Given the description of an element on the screen output the (x, y) to click on. 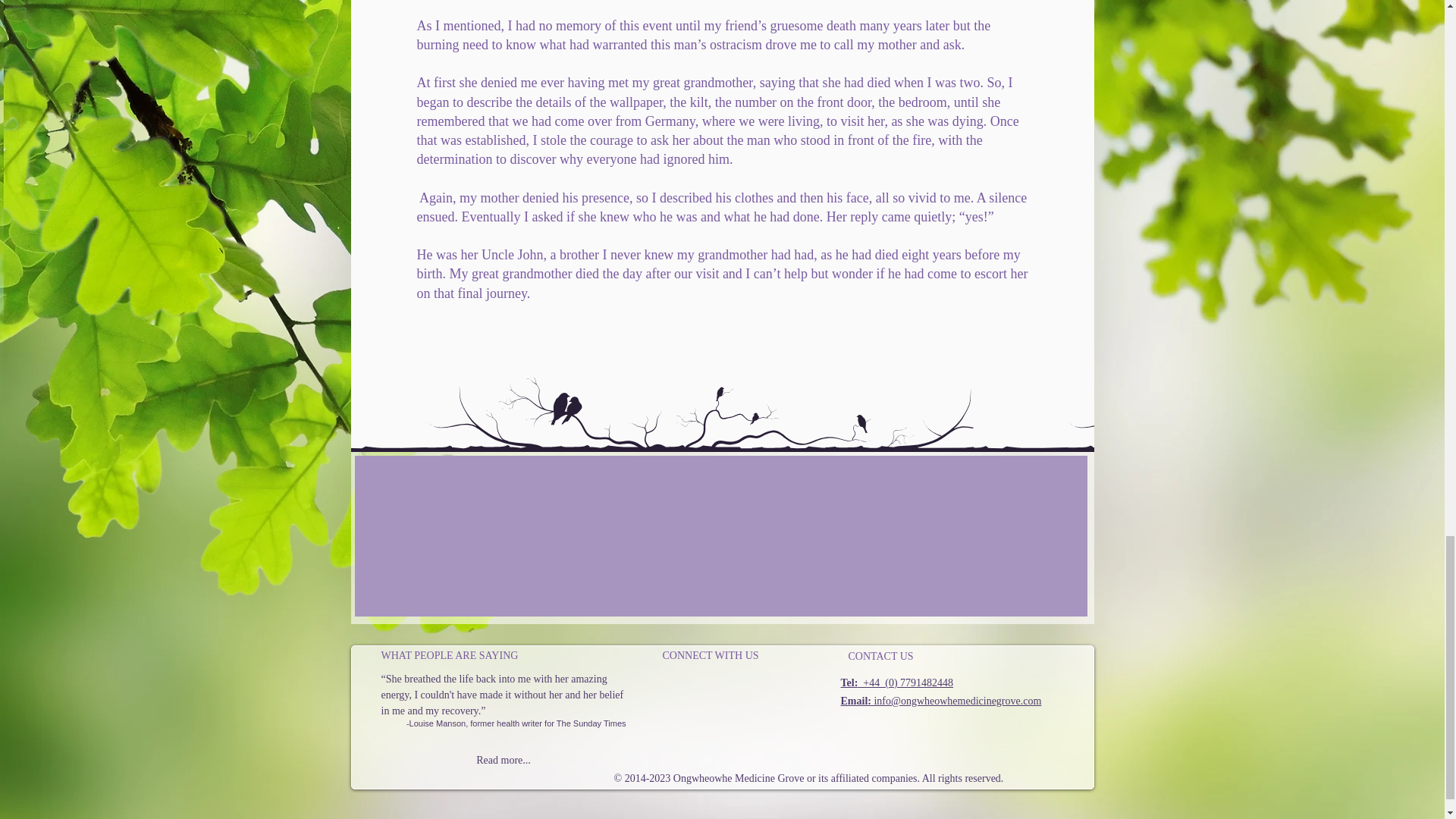
Read more... (502, 760)
